Given the description of an element on the screen output the (x, y) to click on. 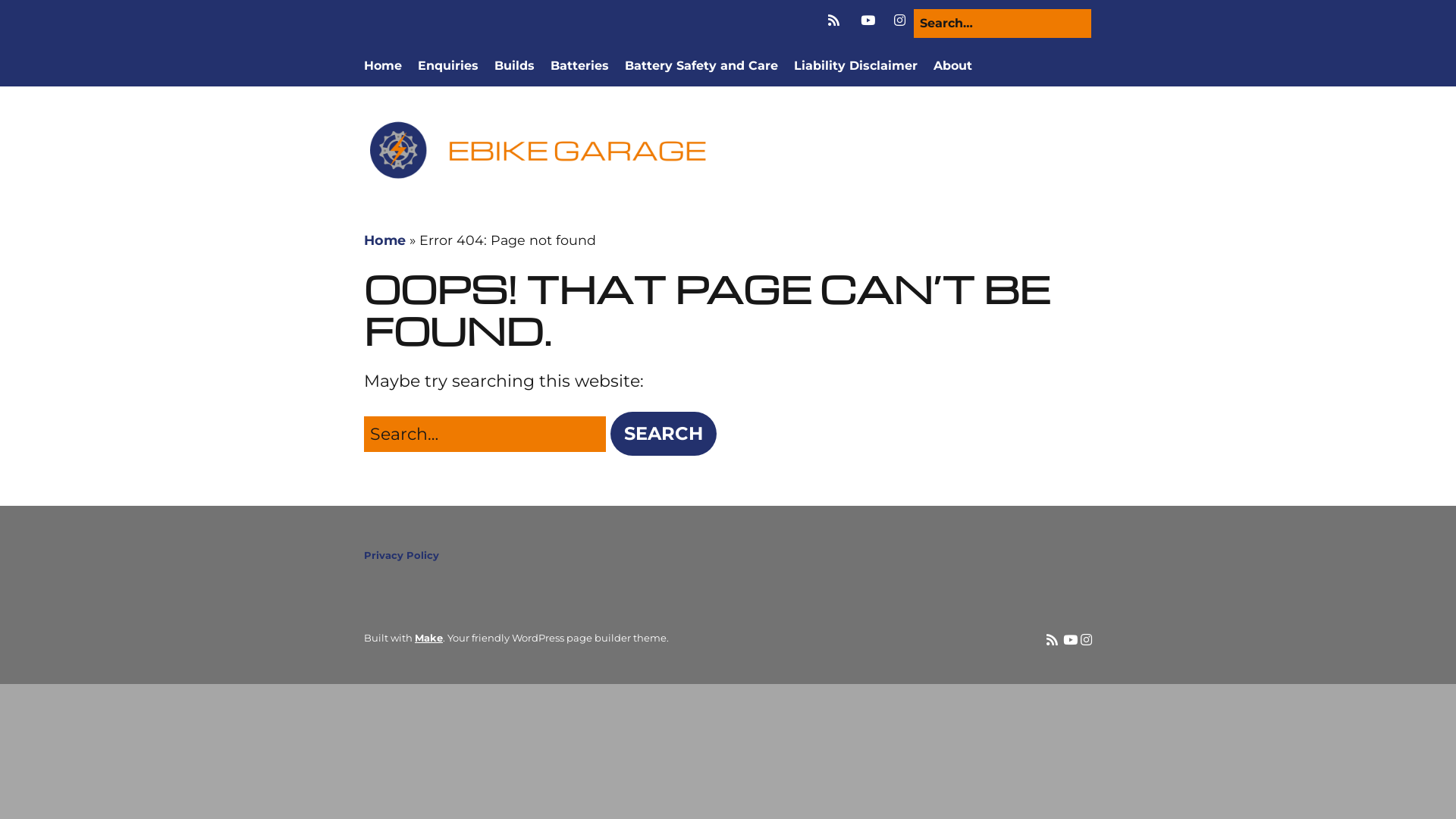
Search Element type: text (36, 18)
Press Enter to submit your search Element type: hover (484, 433)
Make Element type: text (428, 637)
Batteries Element type: text (579, 65)
About Element type: text (952, 65)
Home Element type: text (382, 65)
Press Enter to submit your search Element type: hover (1002, 23)
Home Element type: text (384, 239)
Battery Safety and Care Element type: text (701, 65)
Builds Element type: text (514, 65)
Enquiries Element type: text (447, 65)
Privacy Policy Element type: text (401, 555)
Liability Disclaimer Element type: text (855, 65)
Search Element type: text (663, 433)
